Given the description of an element on the screen output the (x, y) to click on. 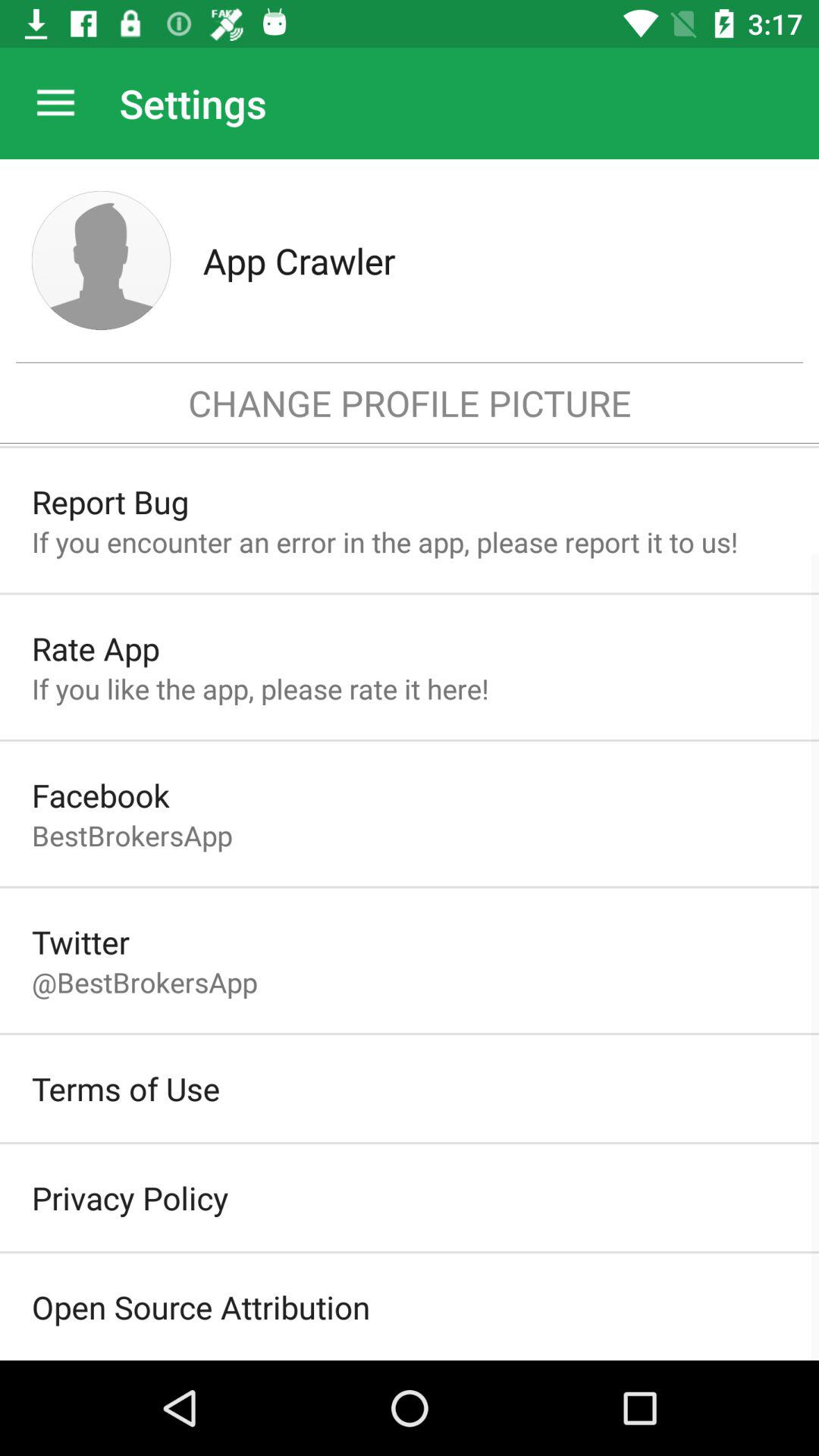
swipe to the facebook item (100, 794)
